Given the description of an element on the screen output the (x, y) to click on. 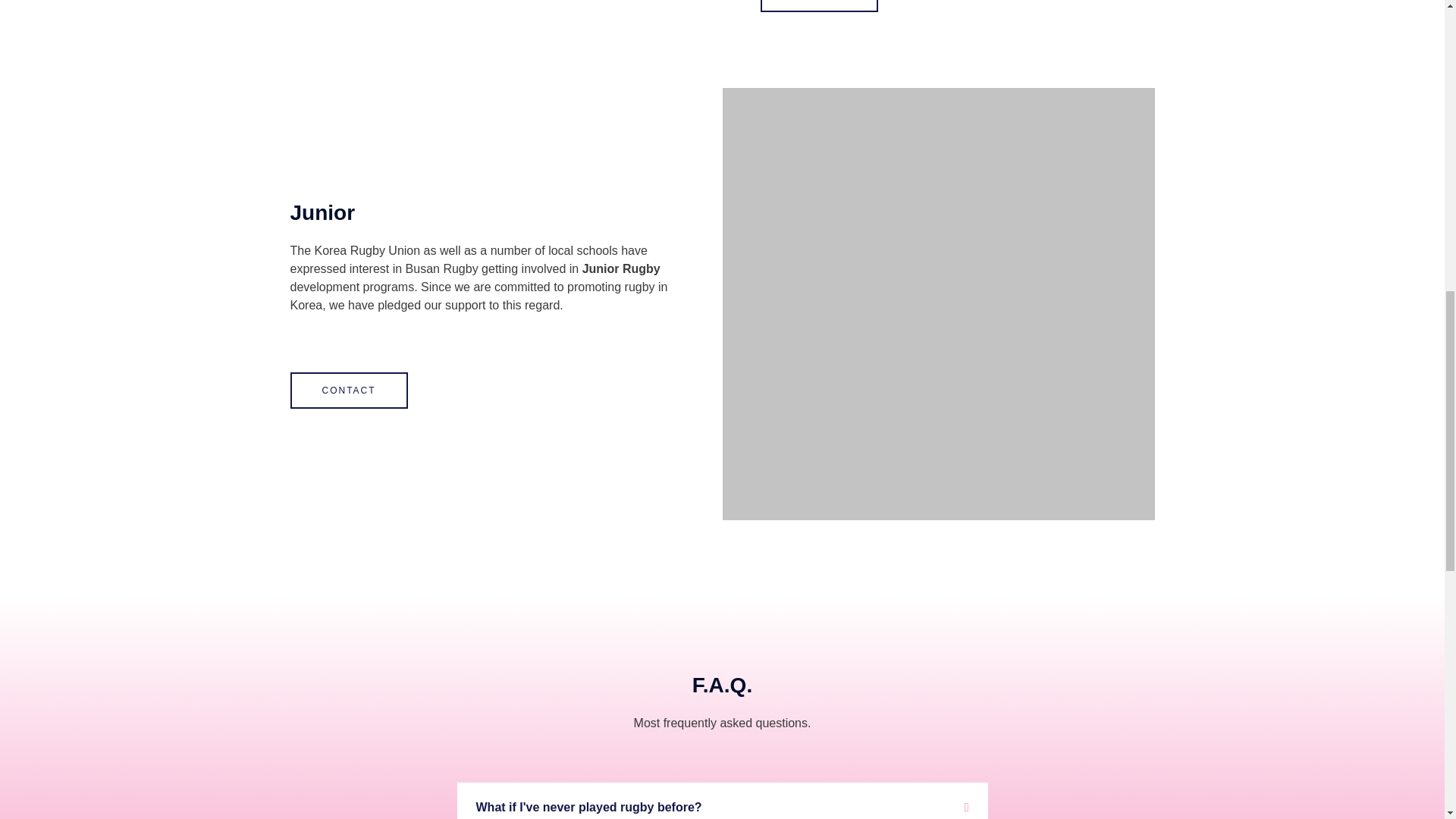
CONTACT (818, 6)
CONTACT (348, 390)
What if I've never played rugby before? (588, 807)
